Given the description of an element on the screen output the (x, y) to click on. 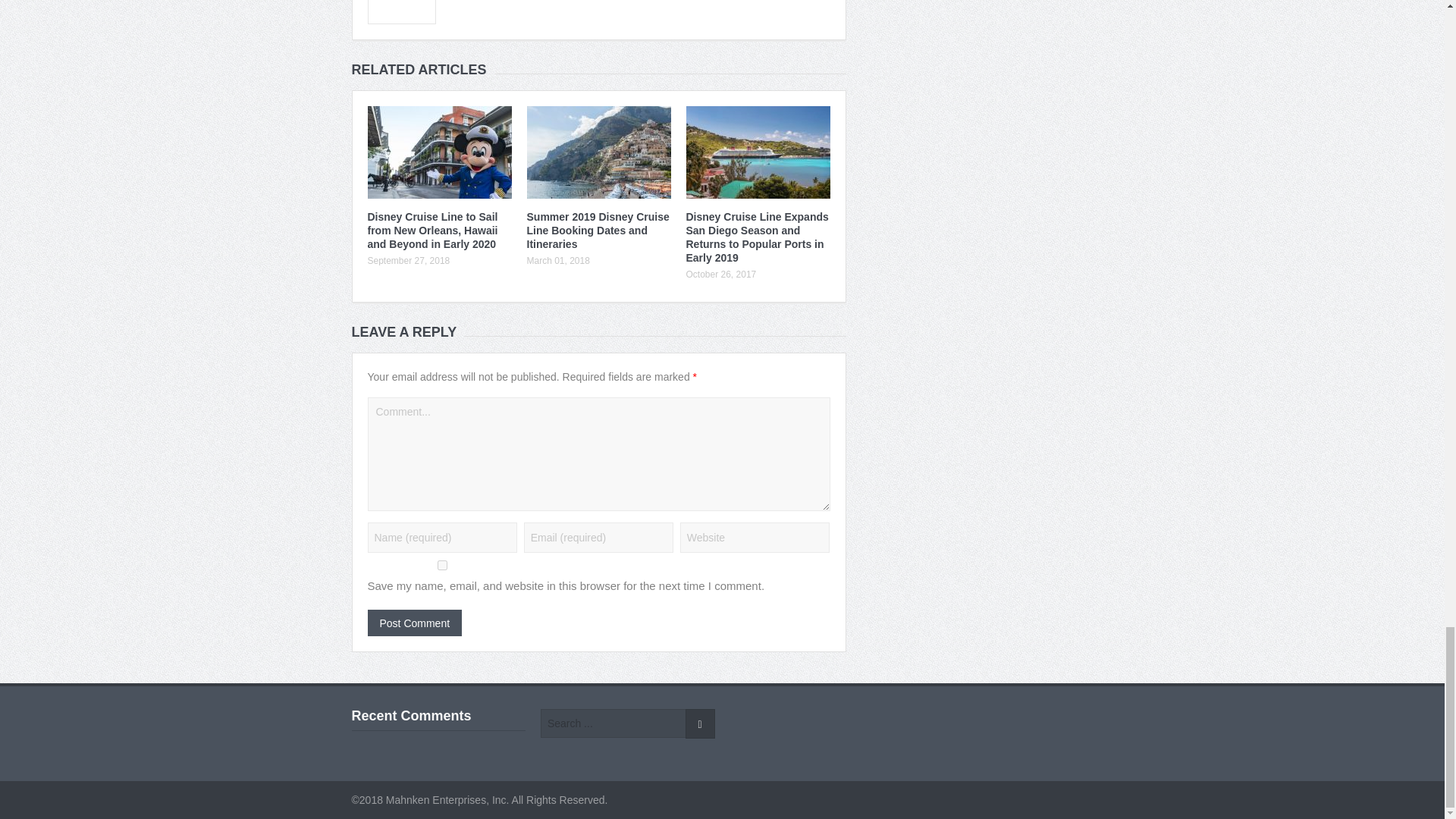
yes (441, 565)
Post Comment (413, 622)
Summer 2019 Disney Cruise Line Booking Dates and Itineraries (596, 230)
